Given the description of an element on the screen output the (x, y) to click on. 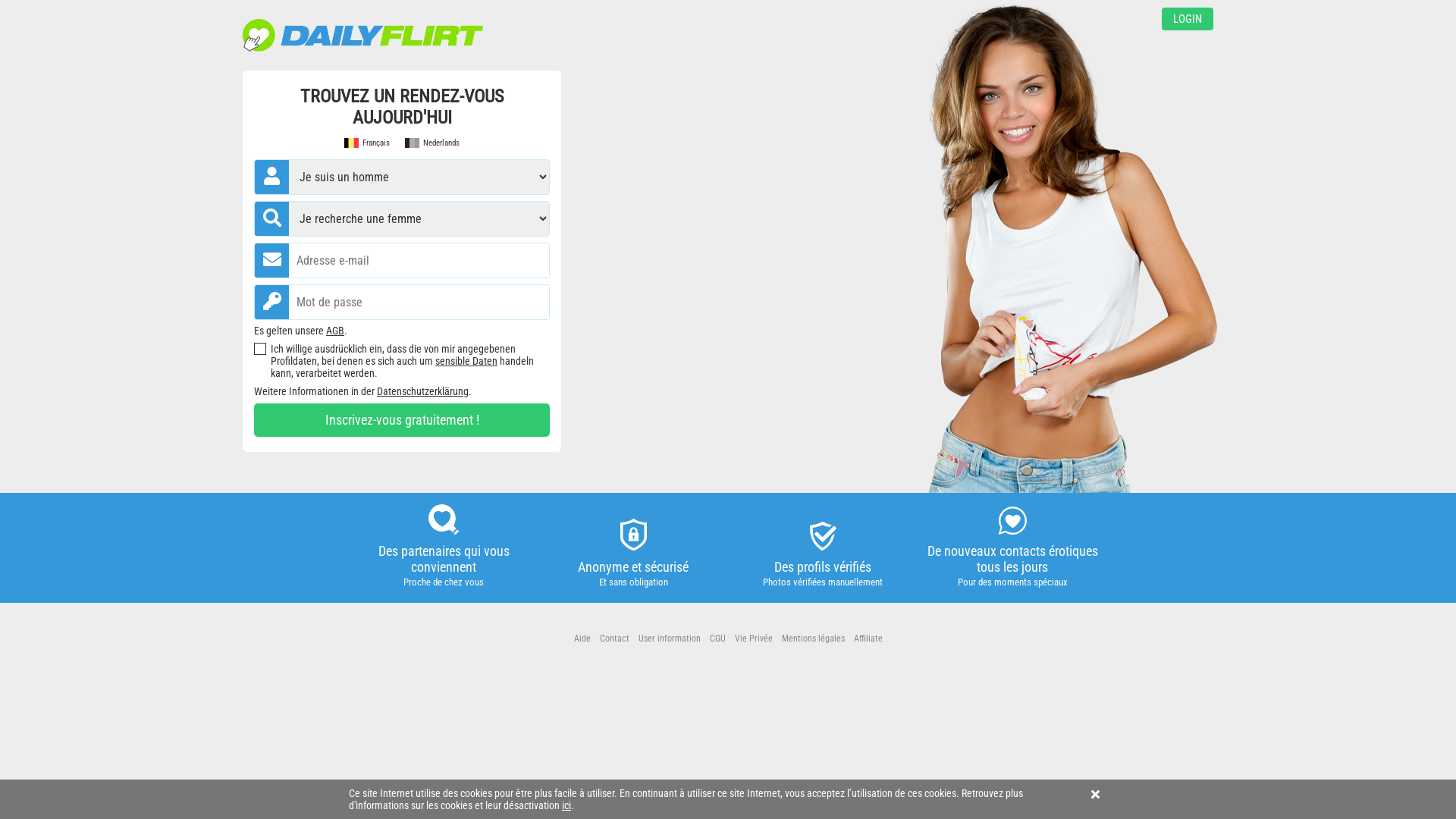
AGB Element type: text (335, 330)
Affiliate Element type: text (867, 638)
Nederlands Element type: text (431, 142)
CGU Element type: text (717, 638)
User information Element type: text (669, 638)
Aide Element type: text (581, 638)
ici Element type: text (566, 805)
Inscrivez-vous gratuitement ! Element type: text (401, 419)
sensible Daten Element type: text (466, 360)
Contact Element type: text (613, 638)
LOGIN Element type: text (1187, 18)
